Given the description of an element on the screen output the (x, y) to click on. 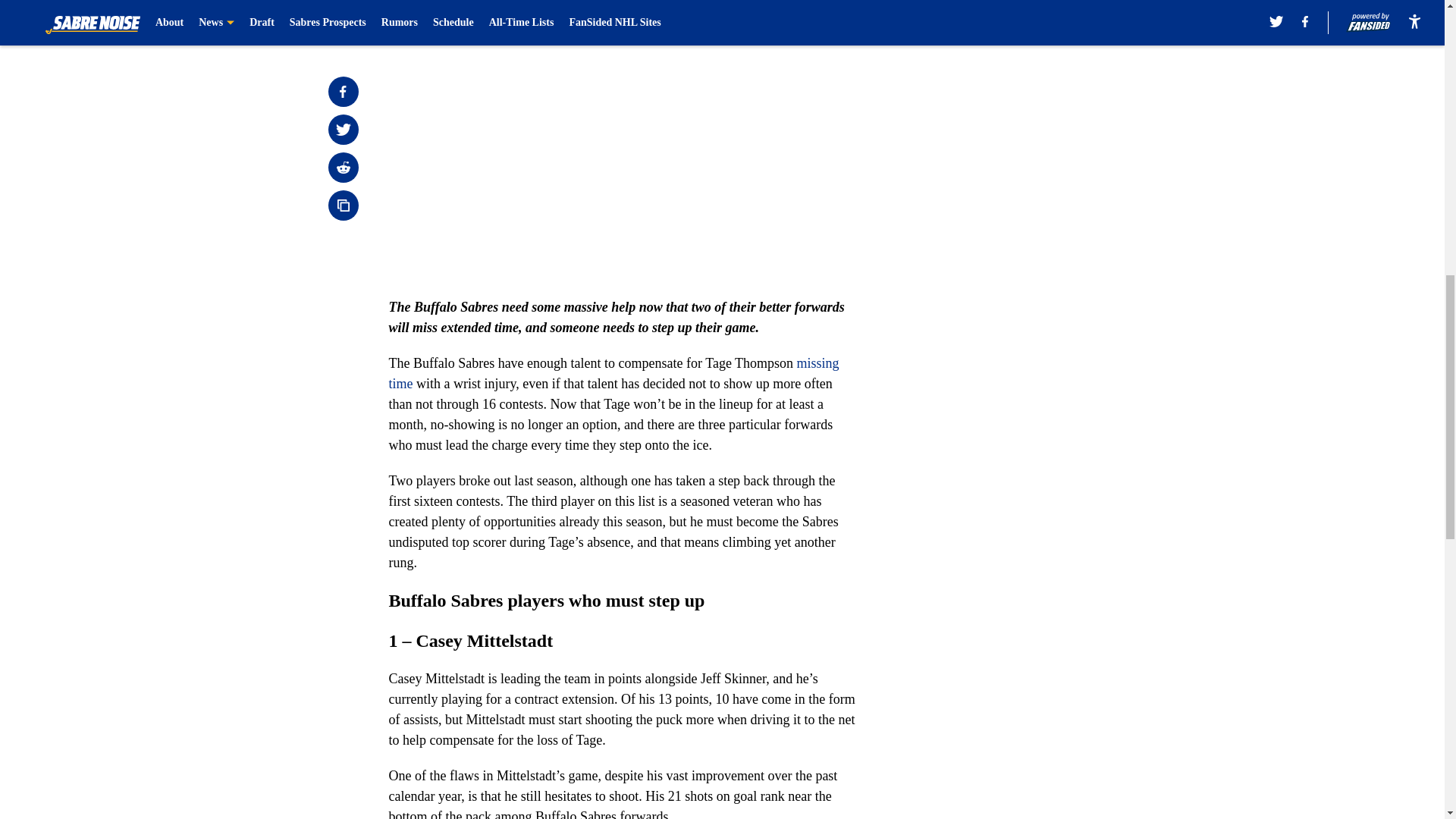
missing time (613, 373)
